Given the description of an element on the screen output the (x, y) to click on. 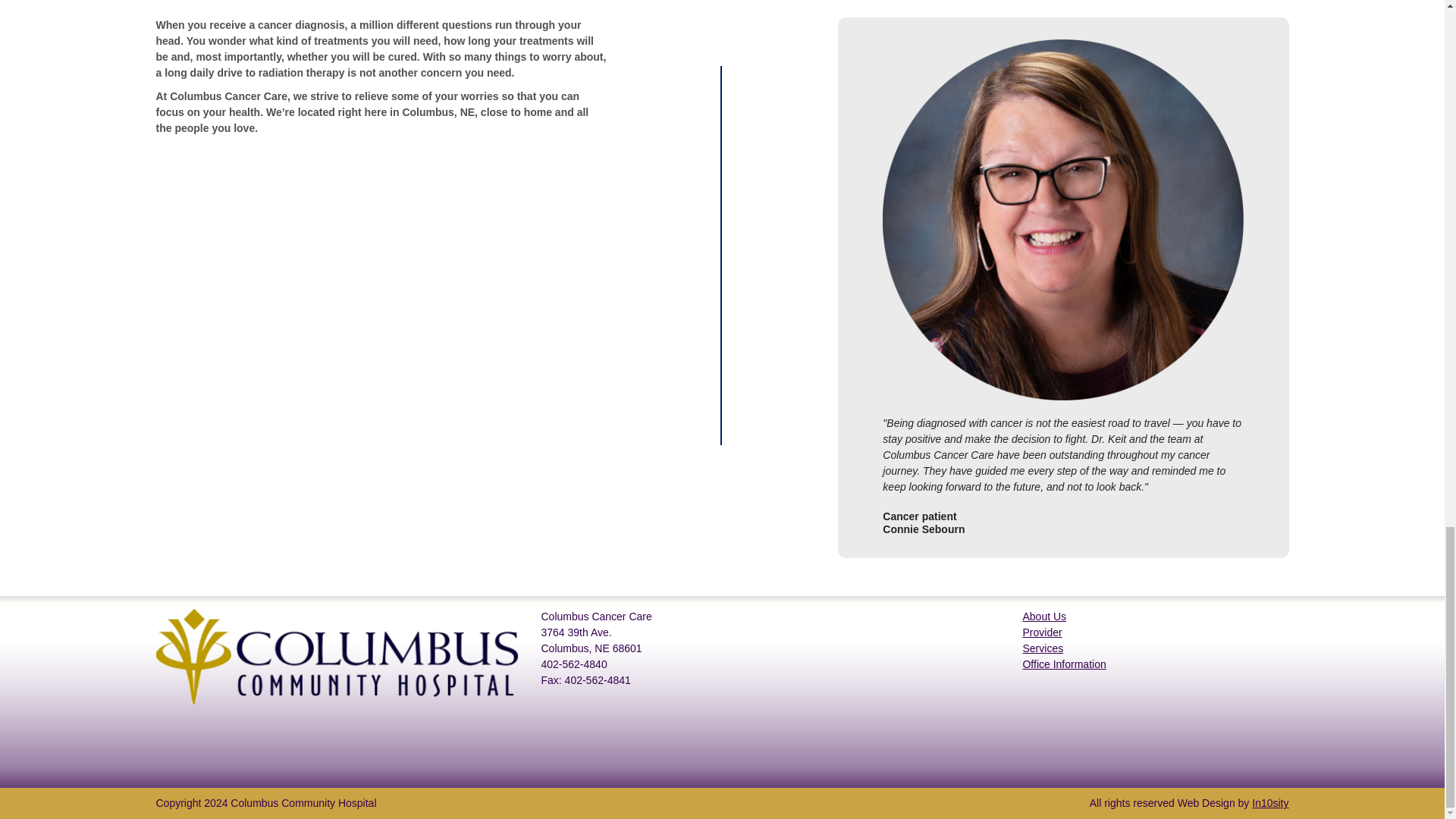
In10sity (1270, 802)
Services (1042, 648)
Provider (1041, 632)
Office Information (1063, 664)
About Us (1043, 616)
